Given the description of an element on the screen output the (x, y) to click on. 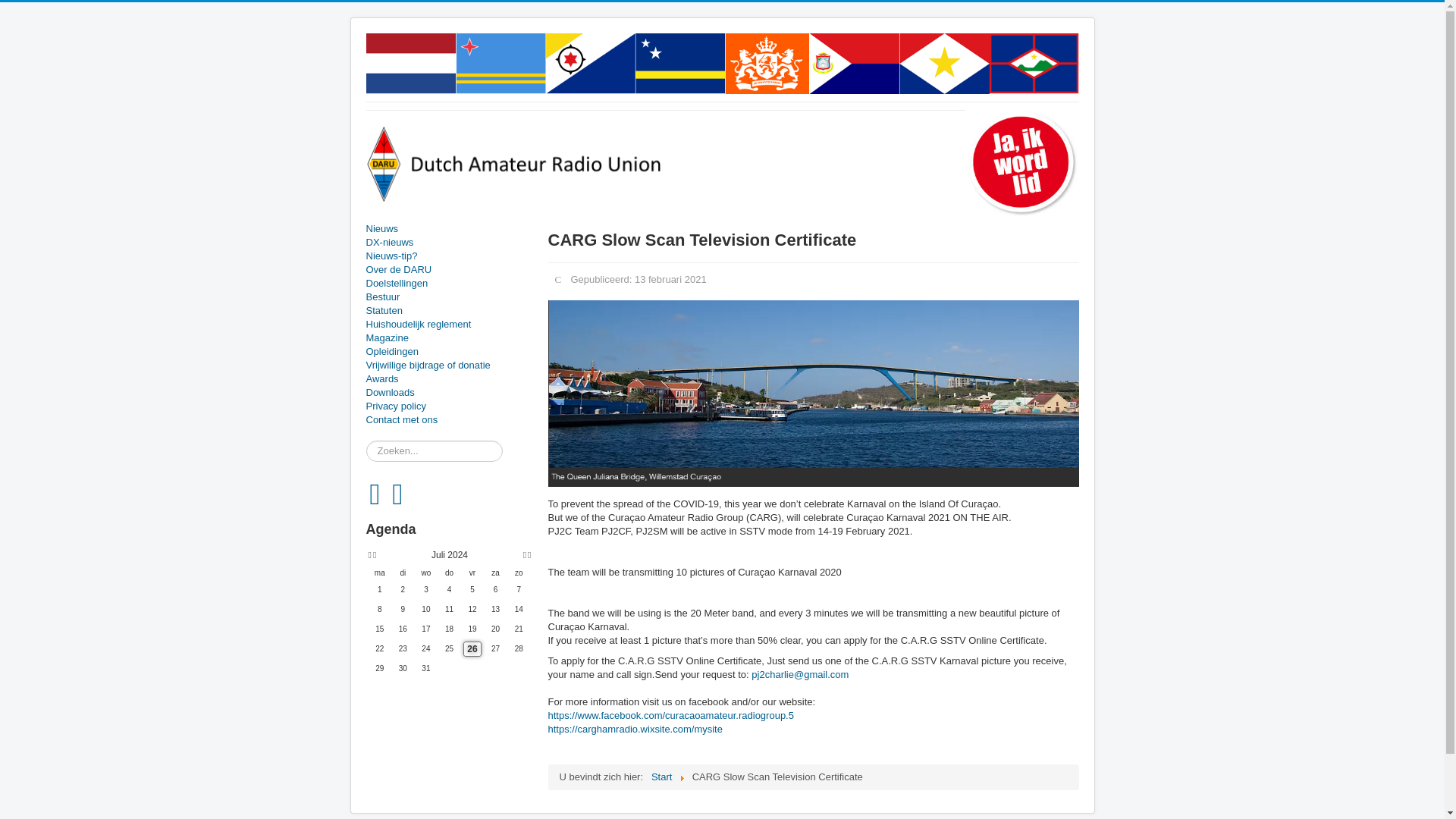
Bestuur (448, 296)
Privacy policy (448, 406)
Contact met ons (448, 419)
Vrijwillige bijdrage of donatie (448, 365)
Nieuws (448, 228)
Awards (448, 378)
Doelstellingen (448, 283)
Huishoudelijk reglement (448, 324)
Opleidingen (448, 351)
Magazine (448, 337)
Statuten (448, 310)
Nieuws-tip? (448, 255)
Over de DARU (448, 269)
Downloads (448, 392)
DX-nieuws (448, 242)
